Given the description of an element on the screen output the (x, y) to click on. 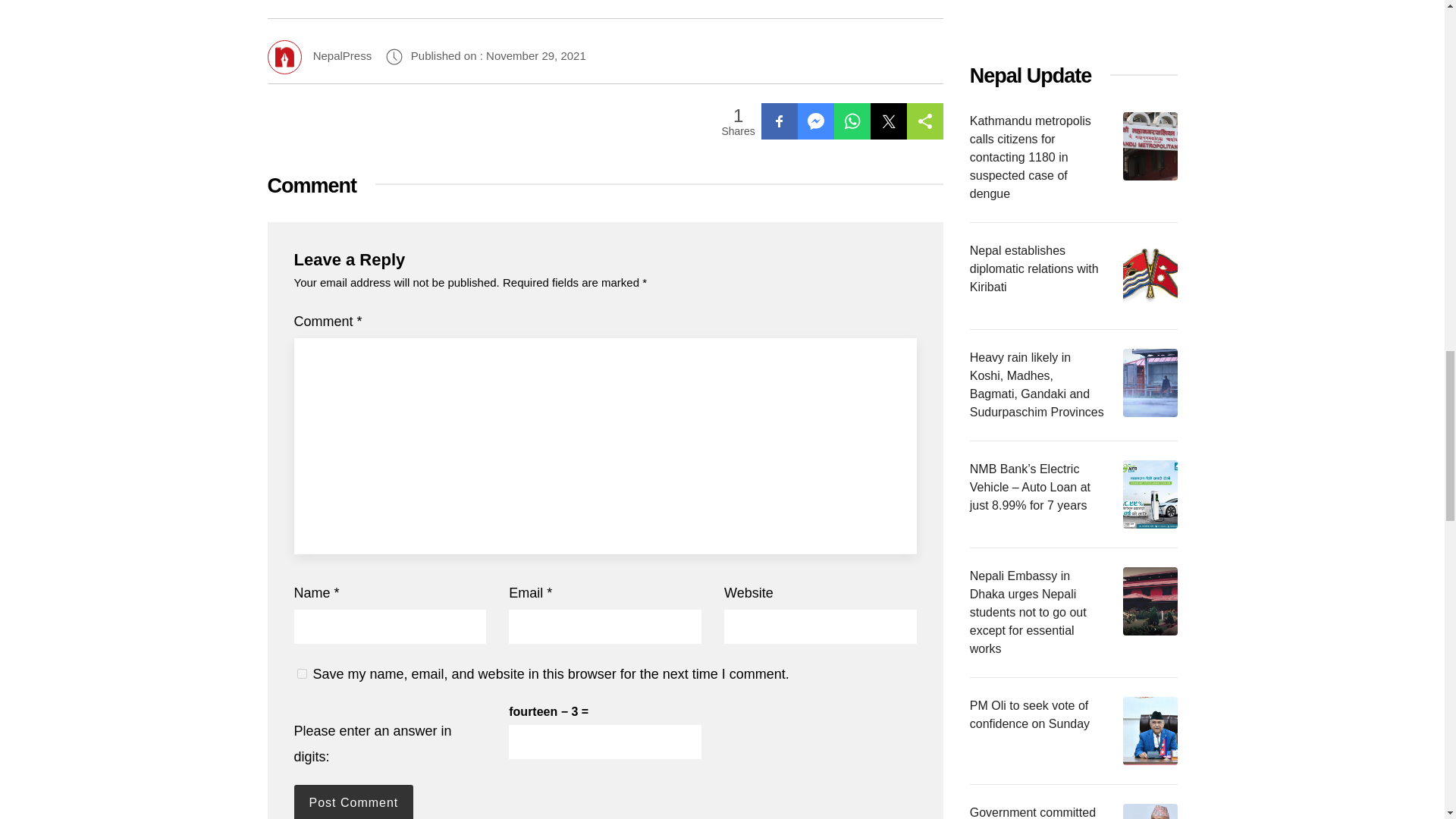
Post Comment (353, 801)
yes (302, 673)
